Given the description of an element on the screen output the (x, y) to click on. 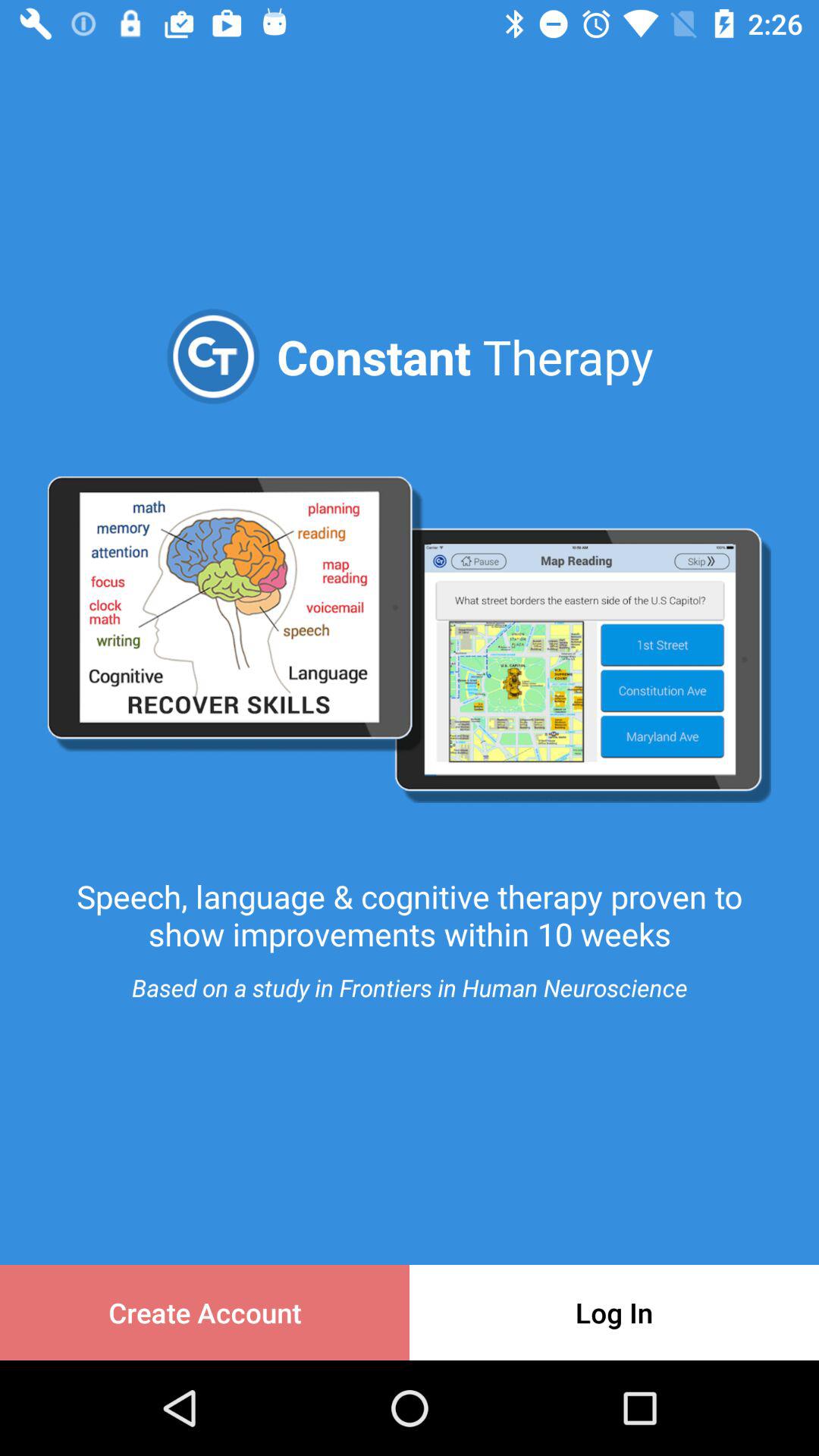
launch icon below the based on a icon (204, 1312)
